Given the description of an element on the screen output the (x, y) to click on. 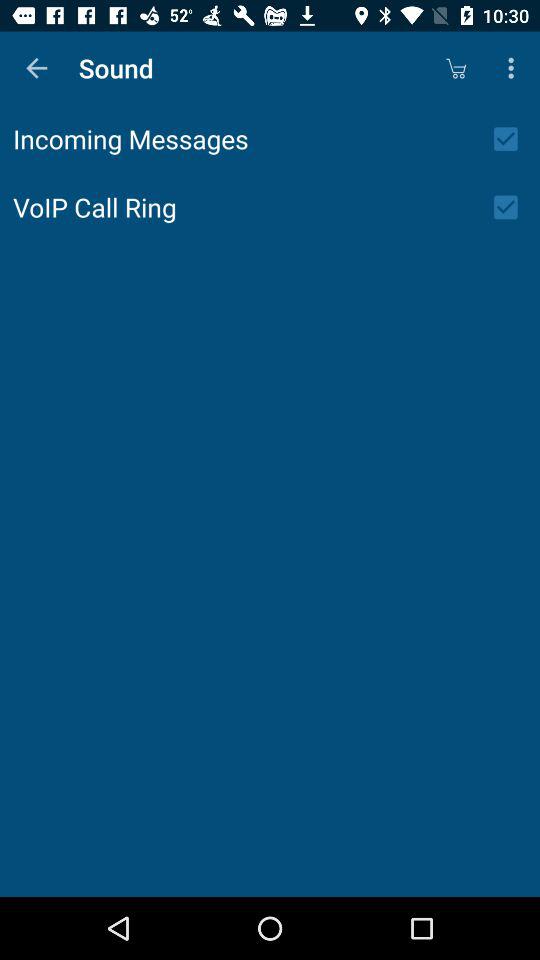
click the item next to the sound (36, 68)
